Given the description of an element on the screen output the (x, y) to click on. 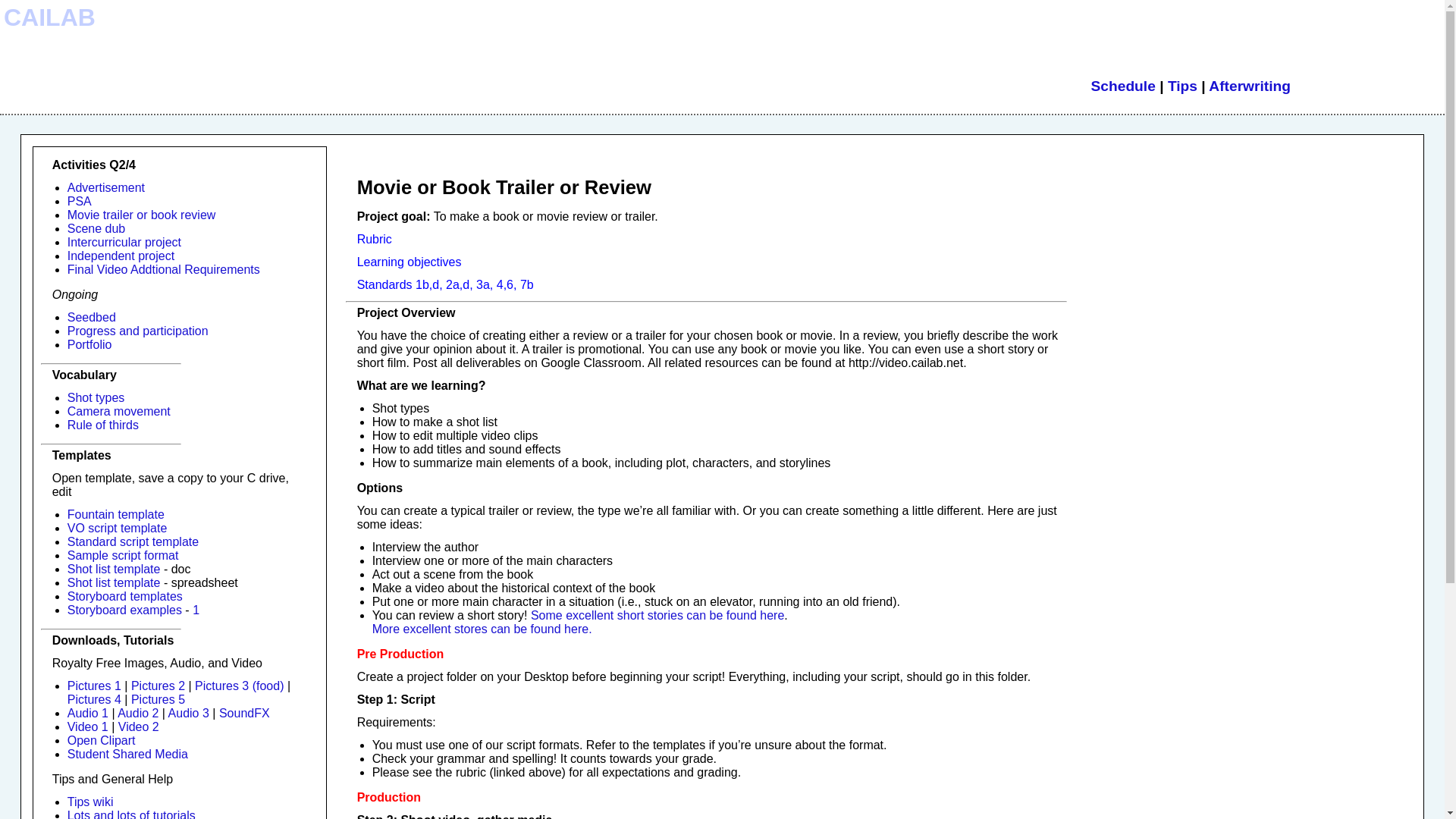
Sample script format (122, 554)
Shot list template (113, 568)
Intercurricular project (123, 241)
Pictures 1 (93, 685)
Independent project (120, 255)
Rule of thirds (102, 424)
Student Shared Media (126, 753)
SoundFX (244, 712)
Audio 1 (86, 712)
VO script template (116, 527)
Audio 2 (137, 712)
Shot list template (113, 582)
PSA (78, 201)
Afterwriting (1249, 85)
Schedule (1123, 85)
